Given the description of an element on the screen output the (x, y) to click on. 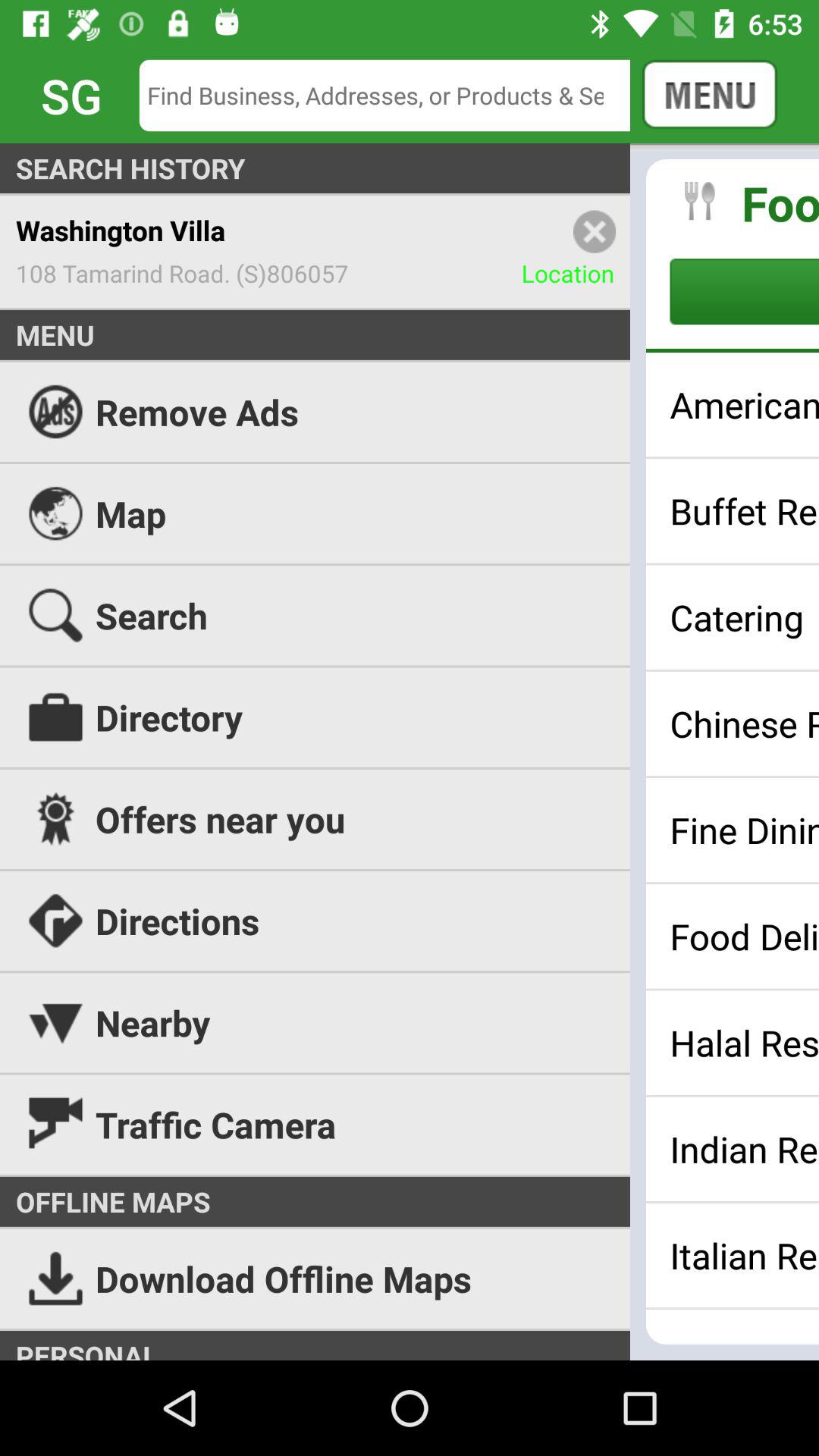
swipe to personal icon (409, 1345)
